Given the description of an element on the screen output the (x, y) to click on. 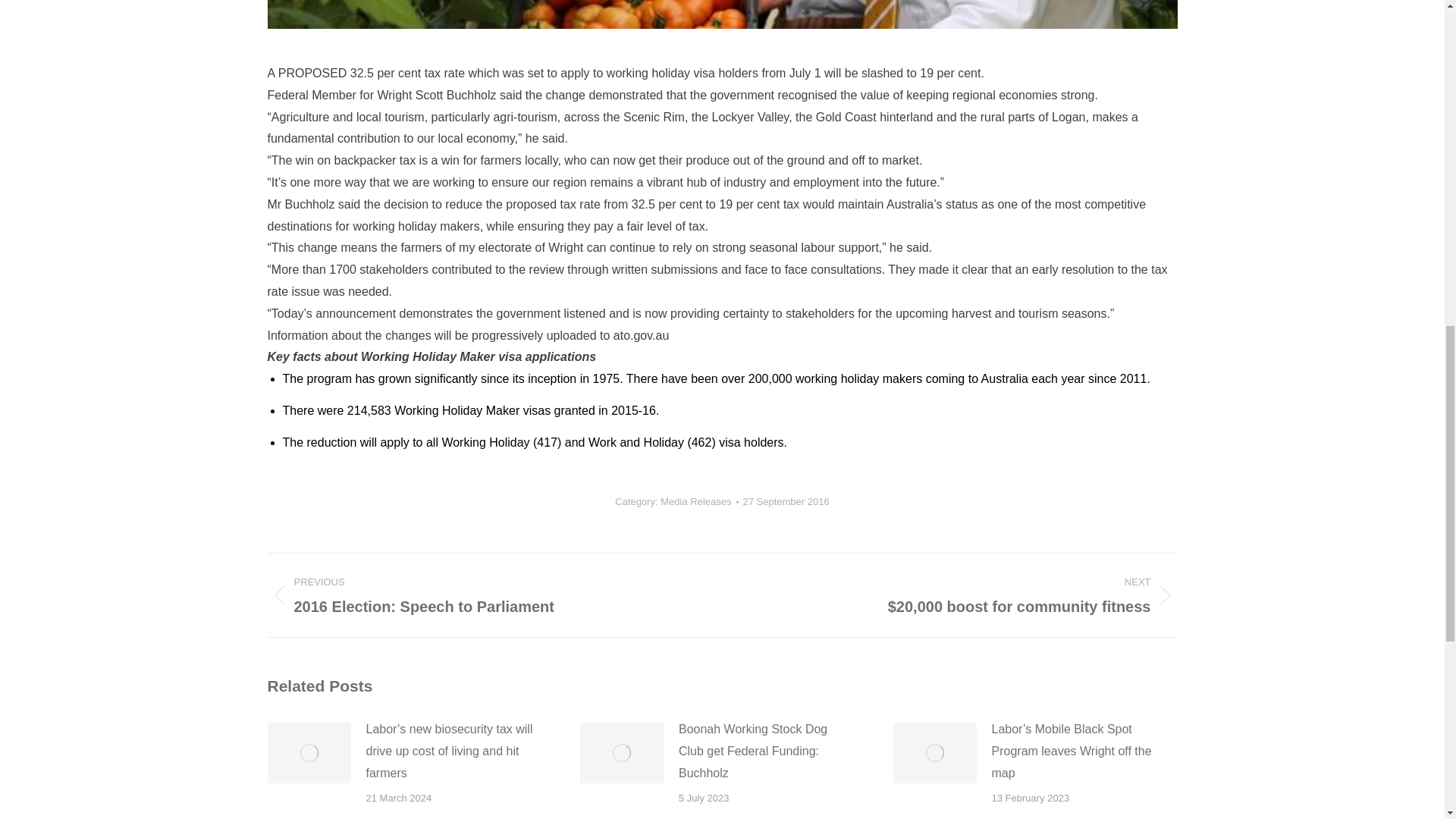
12:00 am (785, 501)
